Given the description of an element on the screen output the (x, y) to click on. 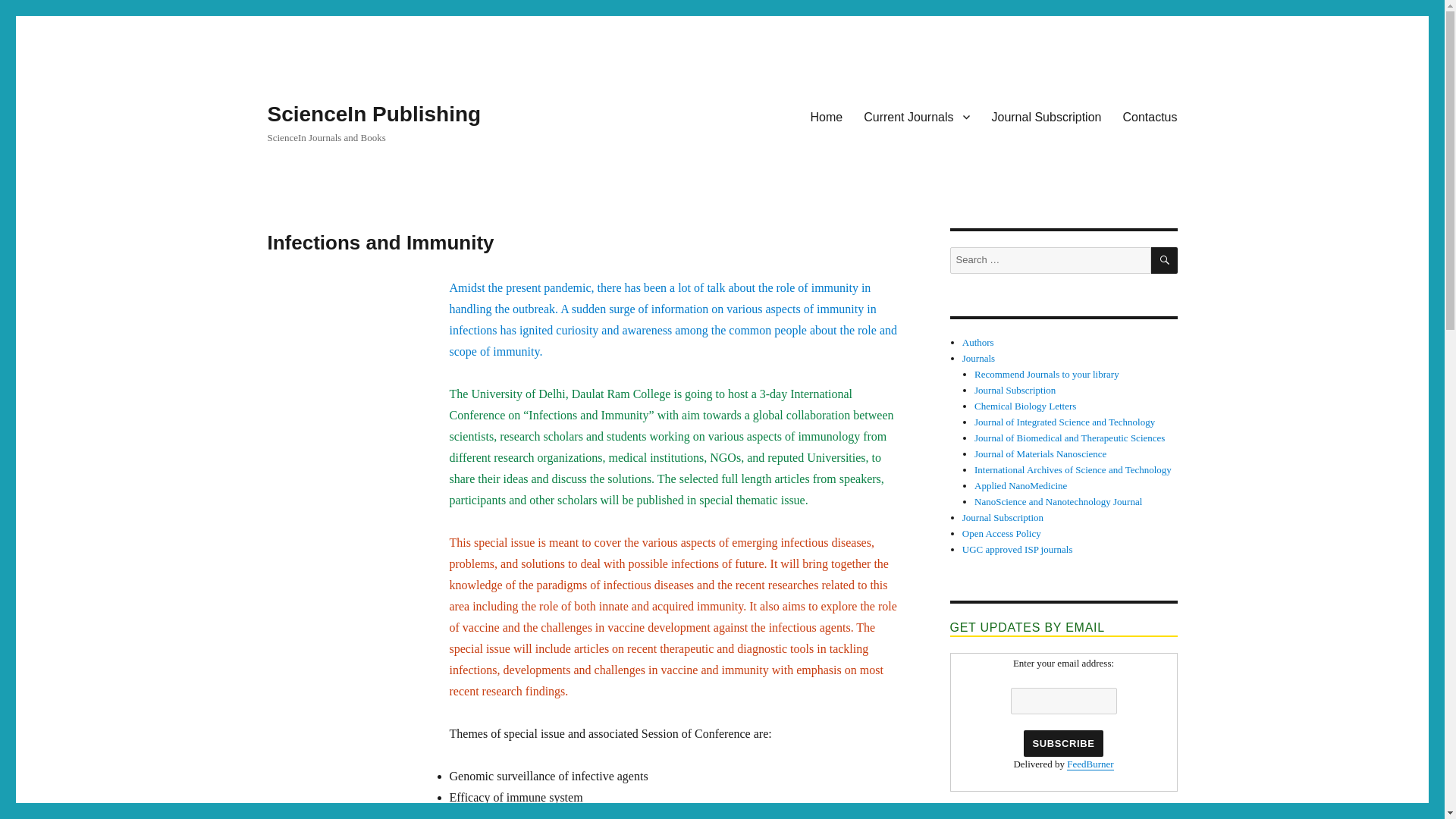
NanoScience and Nanotechnology Journal (1057, 501)
Chemical Biology Letters (1024, 405)
International Archives of Science and Technology (1073, 469)
Journal Subscription (1002, 517)
Authors (978, 342)
Contactus (1150, 116)
Journal of Biomedical and Therapeutic Sciences (1069, 437)
Current Journals (916, 116)
Recommend Journals to your library (1046, 374)
Subscribe (1062, 743)
ScienceIn Publishing (373, 114)
Open Access Policy (1001, 532)
SEARCH (1164, 260)
Home (826, 116)
Journals (978, 357)
